Given the description of an element on the screen output the (x, y) to click on. 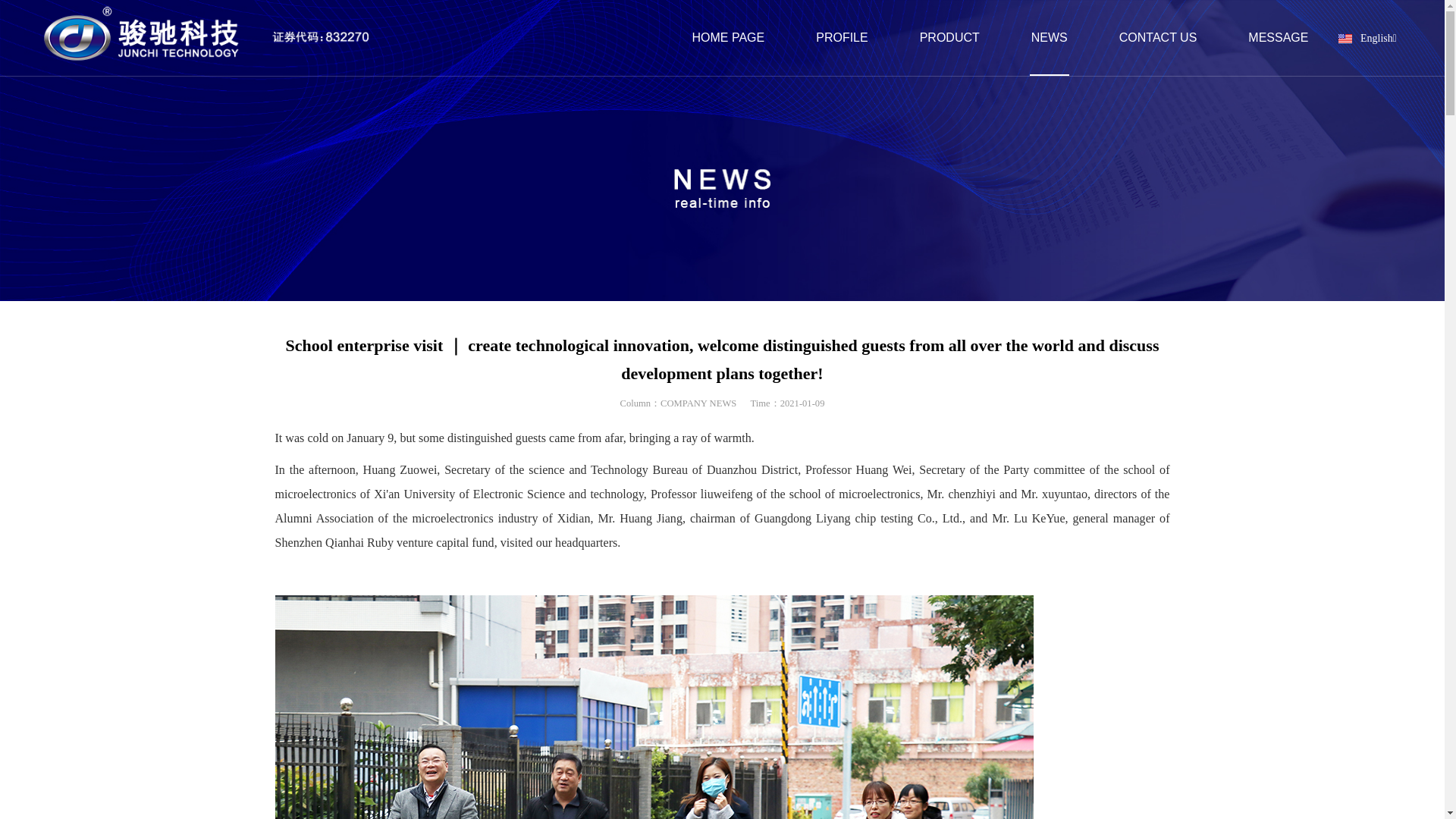
English (1345, 38)
HOME PAGE (727, 38)
CONTACT US (1158, 38)
